Given the description of an element on the screen output the (x, y) to click on. 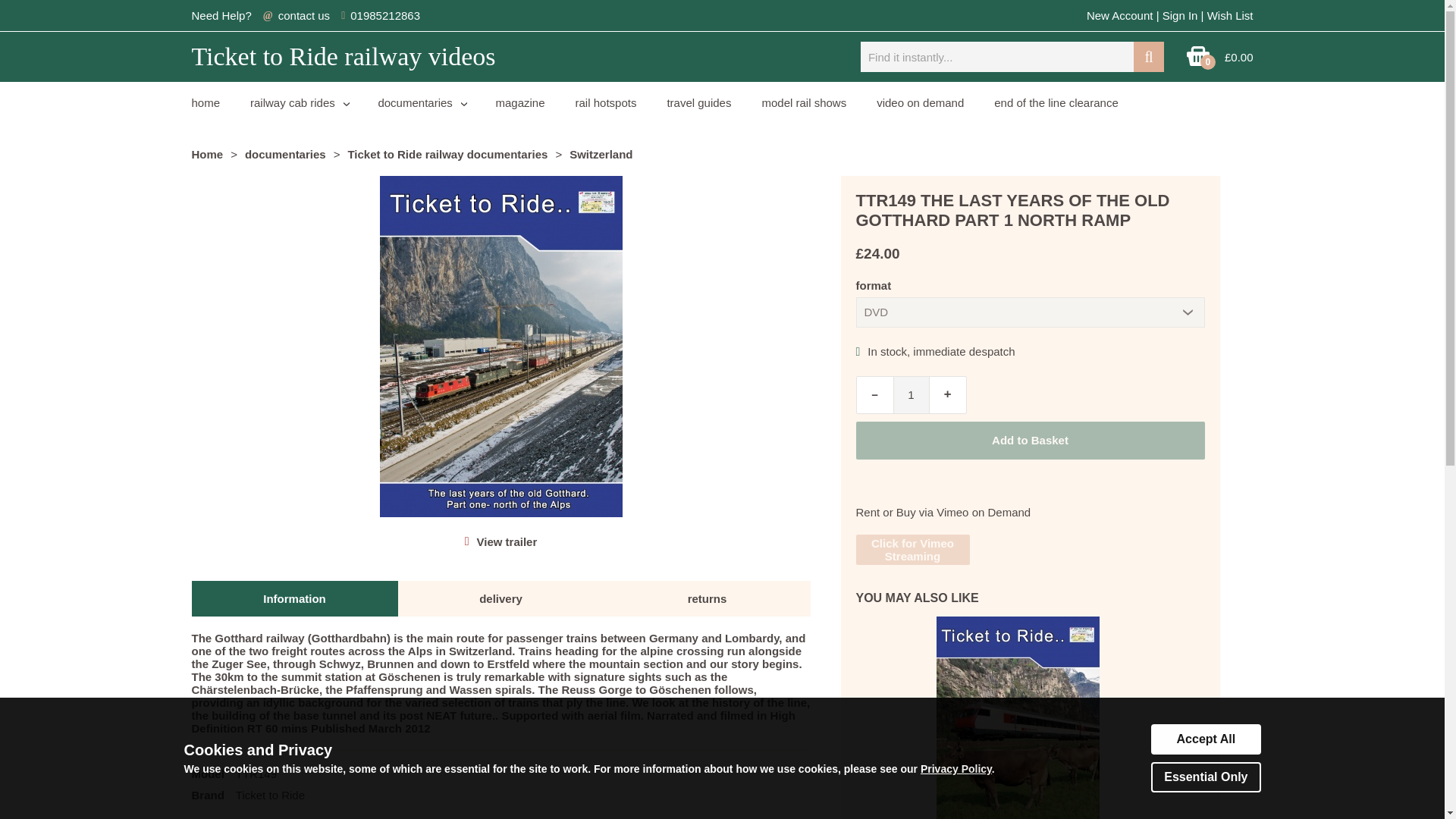
Buy railway videos - bite size chapters on different topics (519, 102)
01985212863 (385, 15)
Rent or buy railway videos via Vimeo on Demand (919, 102)
railway cab rides (298, 103)
Buy railway videos - just trains rail traffic hotspots (606, 102)
contact us (304, 15)
home (205, 102)
Go (1148, 56)
Wish List (1230, 15)
0 (1197, 62)
1 (911, 394)
New Account (1119, 15)
TTR149 The last years of the old Gotthard part 1 north ramp (507, 541)
Buy railway videos - view from the driver's cab (298, 103)
